Given the description of an element on the screen output the (x, y) to click on. 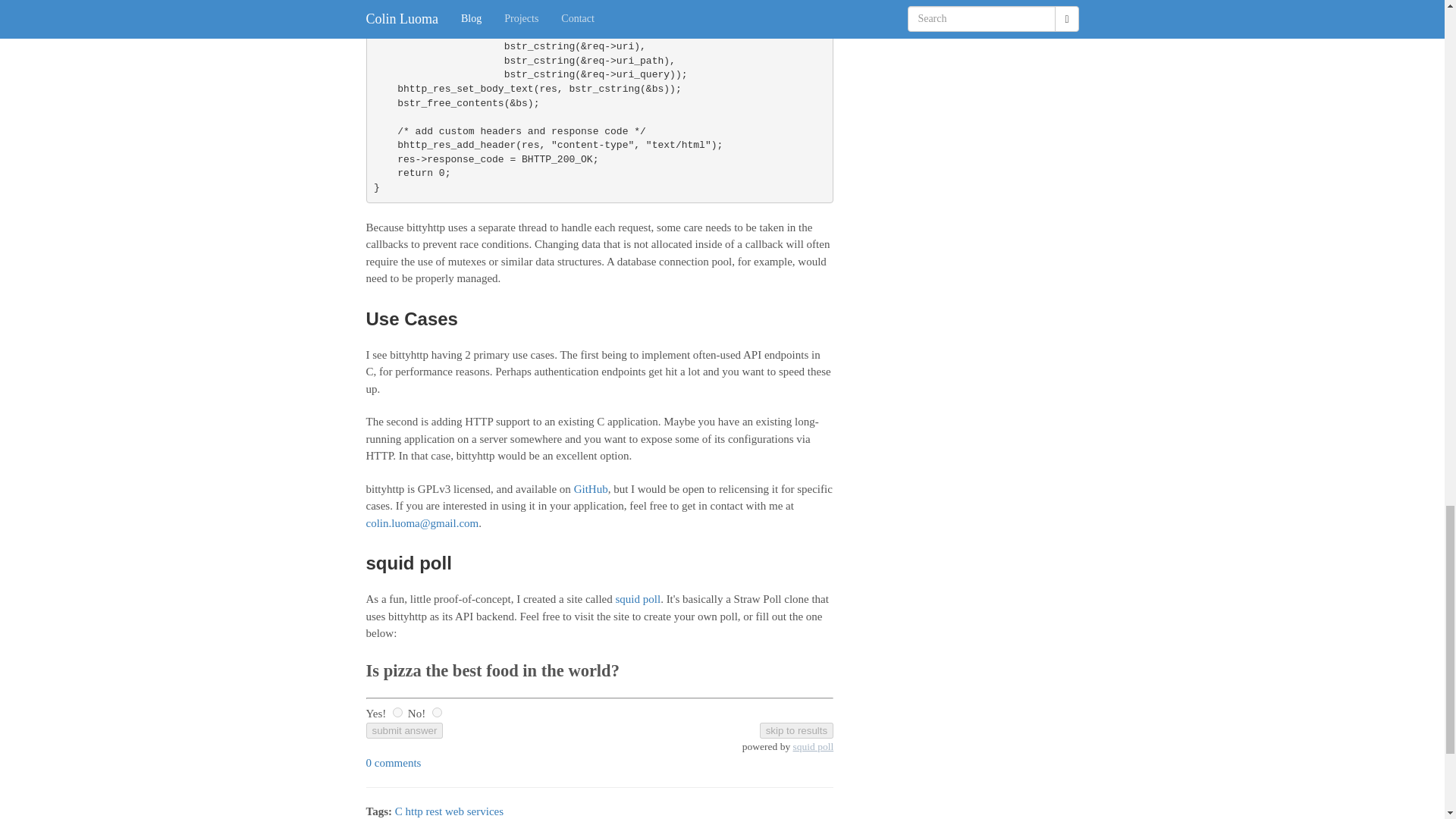
web services (474, 811)
GitHub (590, 489)
C (398, 811)
http (413, 811)
rest (434, 811)
squid poll (638, 598)
0 comments (392, 762)
